Given the description of an element on the screen output the (x, y) to click on. 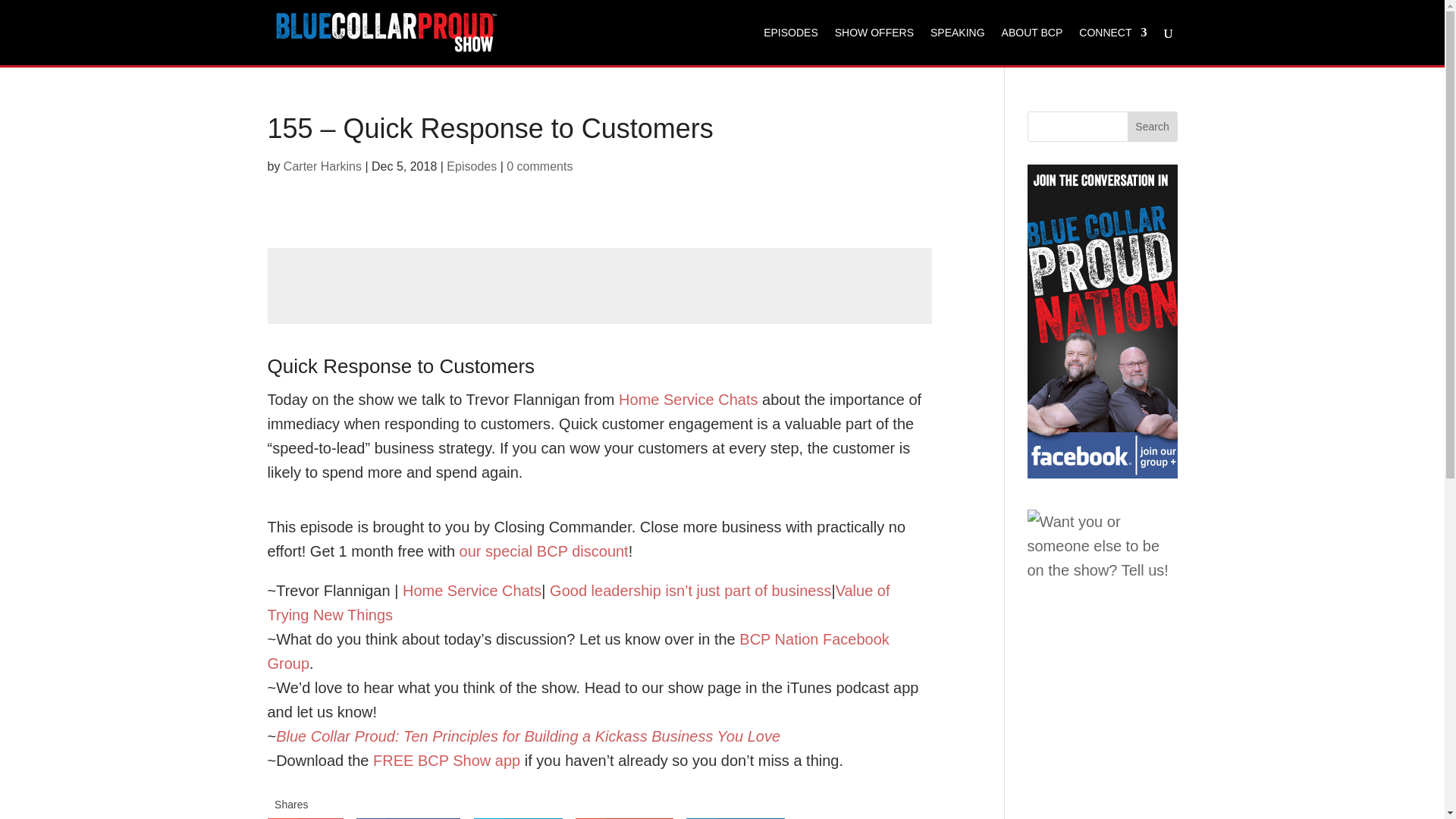
Carter Harkins (322, 165)
BCP Nation Facebook Group (577, 650)
SPEAKING (957, 46)
FREE BCP Show app (445, 760)
EPISODES (790, 46)
CONNECT (1112, 46)
Posts by Carter Harkins (322, 165)
SHOW OFFERS (874, 46)
